Given the description of an element on the screen output the (x, y) to click on. 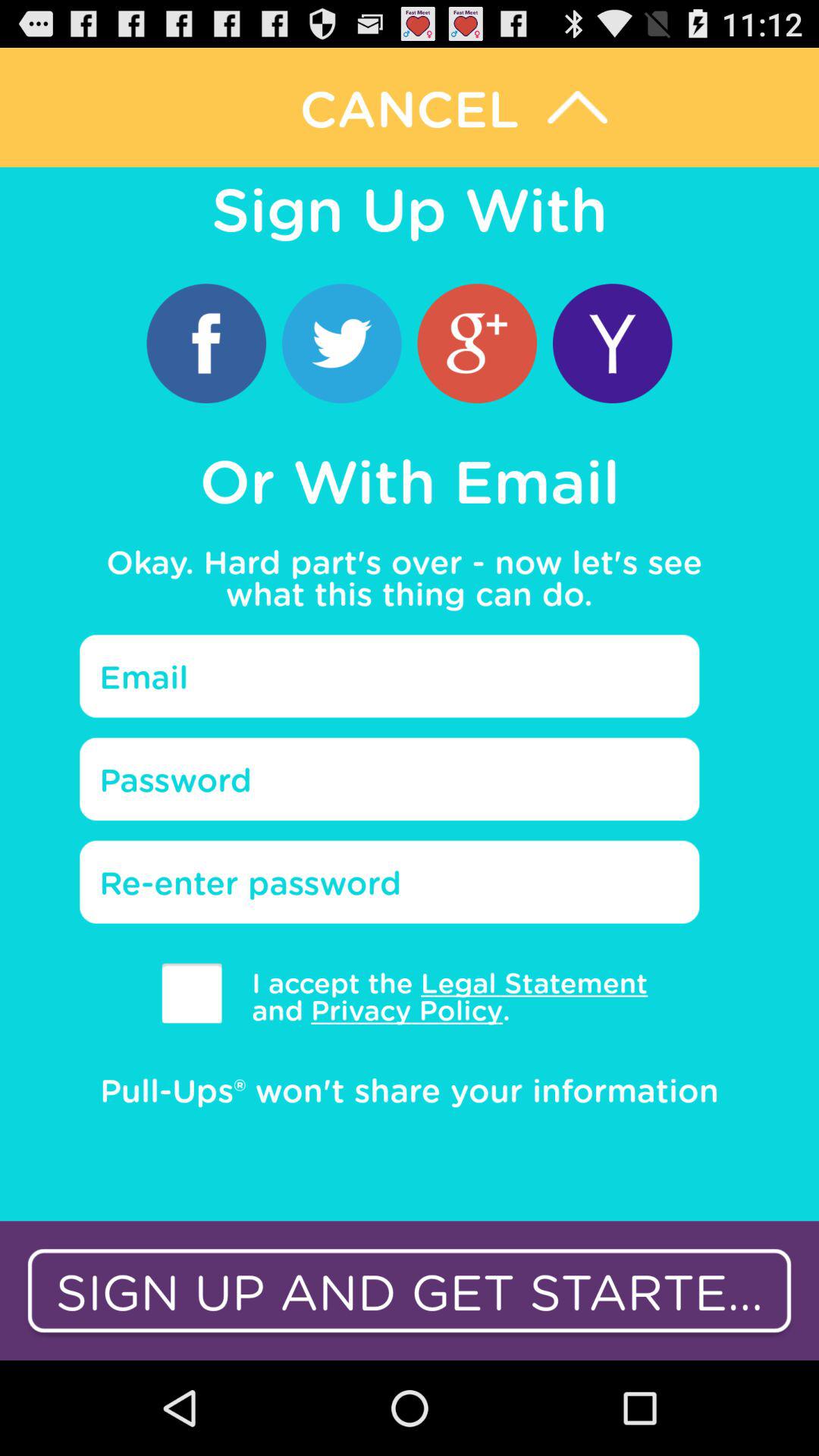
accept terms checkbox (191, 993)
